Given the description of an element on the screen output the (x, y) to click on. 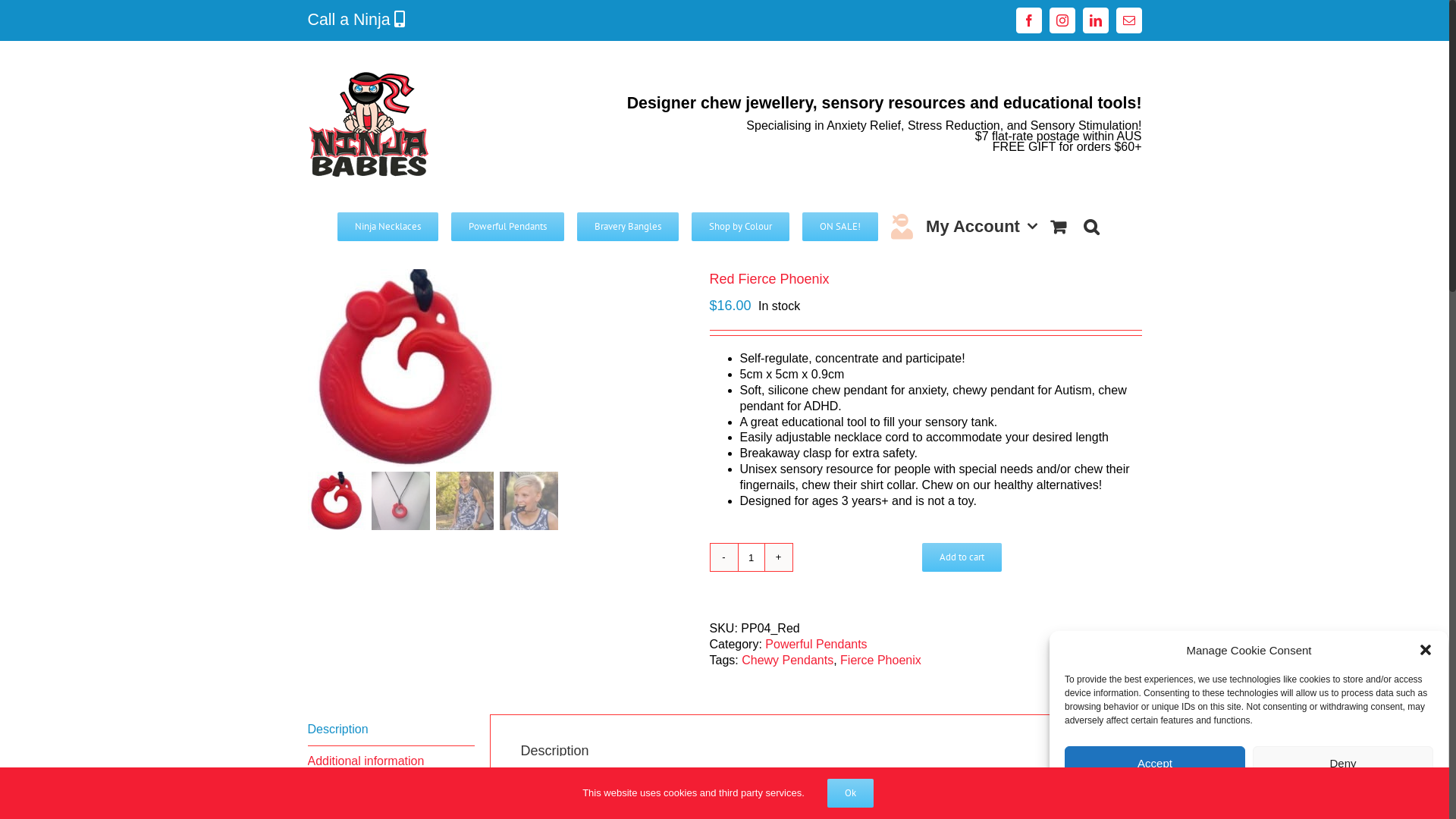
Additional information Element type: text (390, 762)
Chewy Pendants Element type: text (787, 659)
Ok Element type: text (850, 792)
Search Element type: hover (1090, 226)
Facebook Element type: text (1028, 20)
Cookie Policy Element type: text (1249, 793)
Ninja Necklaces Element type: text (387, 226)
Email Element type: text (1129, 20)
Fierce Phoenix Element type: text (880, 659)
Description Element type: text (390, 730)
Log In Element type: text (1024, 354)
My Account Element type: text (981, 226)
Bravery Bangles Element type: text (627, 226)
Powerful Pendants Element type: text (507, 226)
Shop by Colour Element type: text (740, 226)
LinkedIn Element type: text (1095, 20)
Add to cart Element type: text (961, 556)
Instagram Element type: text (1062, 20)
ON SALE! Element type: text (840, 226)
Powerful Pendants Element type: text (815, 643)
Accept Element type: text (1154, 763)
Ninja_Babies_Powerful_ASD_Pendants_Fierce_Phoenix_Design_Red Element type: hover (406, 367)
Call a Ninja Element type: text (351, 19)
Deny Element type: text (1342, 763)
Secure payment input frame Element type: hover (865, 557)
View Your Ninja Babies Account Element type: hover (902, 226)
